Given the description of an element on the screen output the (x, y) to click on. 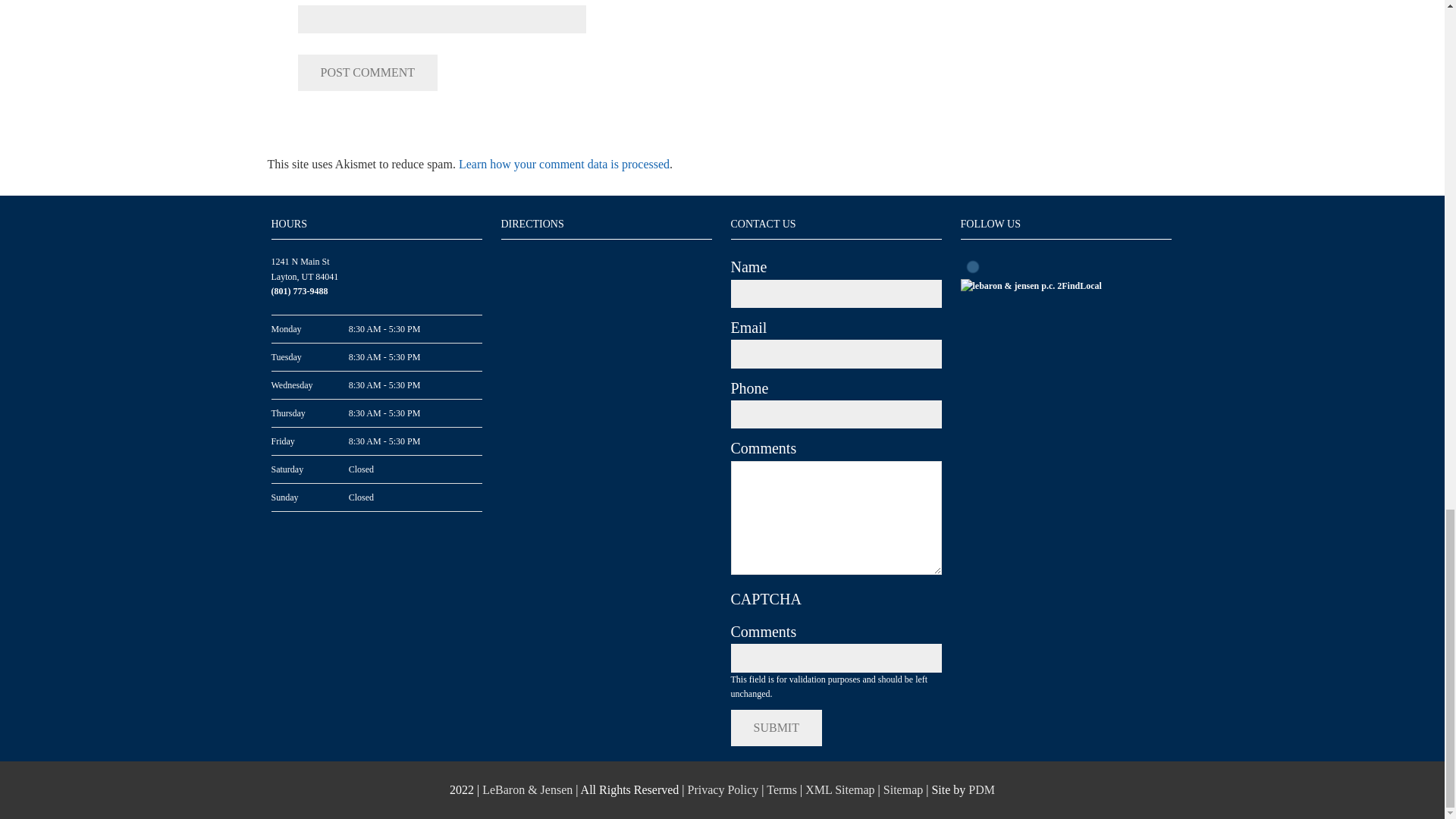
Post Comment (367, 72)
Ogden SEO (981, 789)
Submit (776, 728)
